Given the description of an element on the screen output the (x, y) to click on. 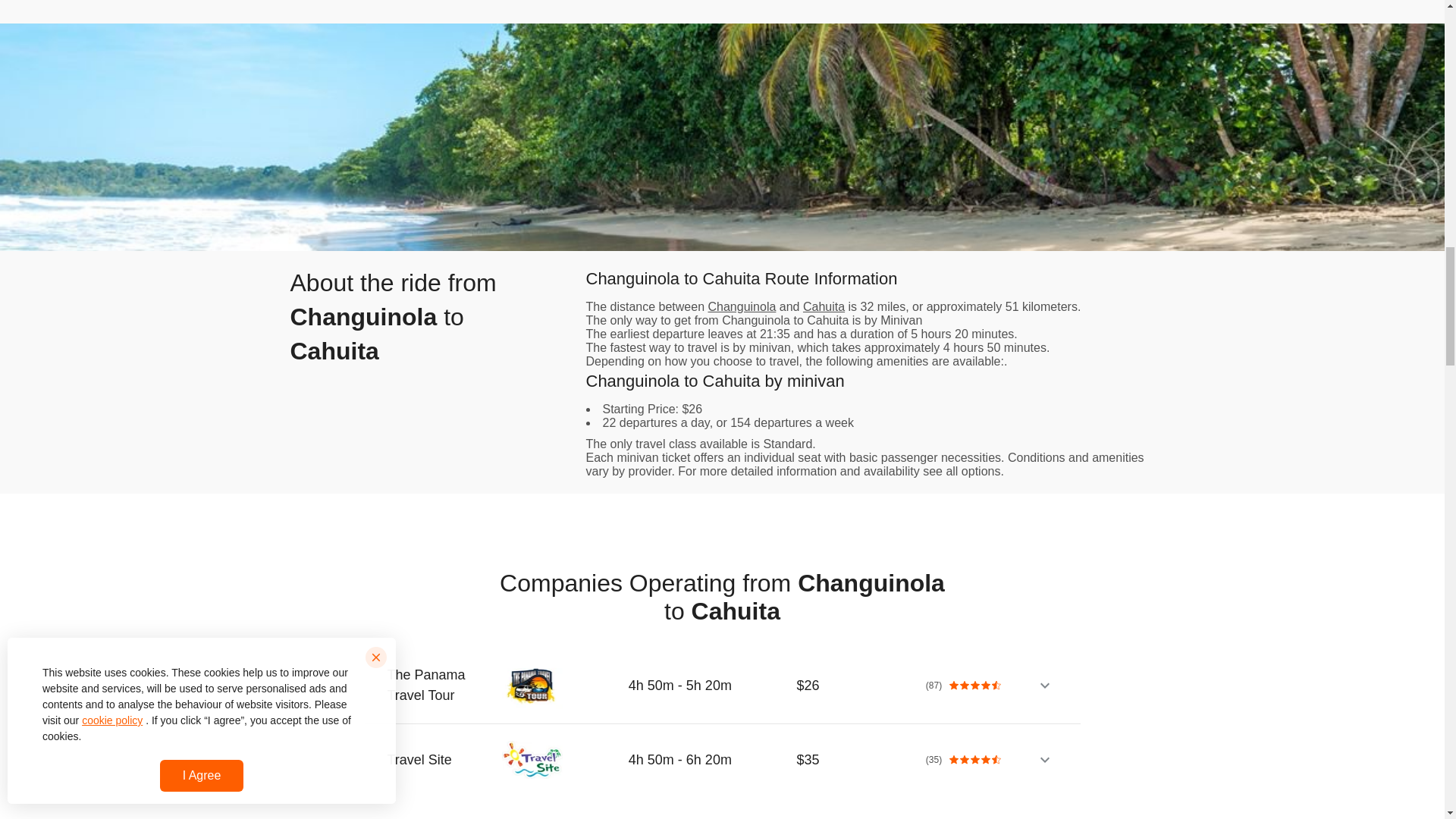
The Panama Travel Tour (435, 685)
Cahuita (823, 306)
Changuinola (741, 306)
Travel Site (435, 759)
